Given the description of an element on the screen output the (x, y) to click on. 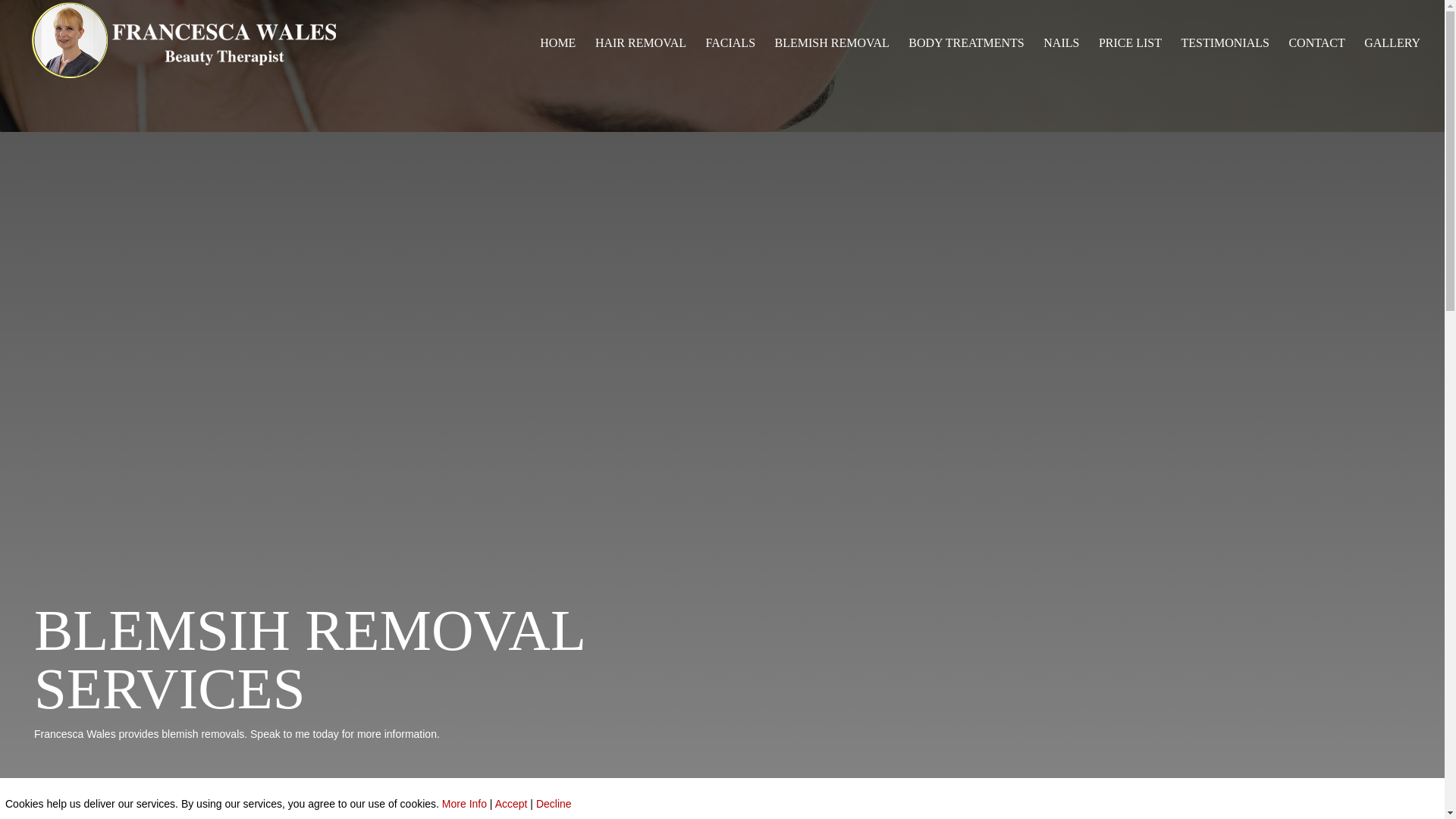
Decline (553, 803)
BODY TREATMENTS (965, 61)
More Info (464, 803)
TESTIMONIALS (1224, 61)
BLEMISH REMOVAL (831, 61)
GALLERY (1392, 61)
FACIALS (730, 61)
CONTACT (1315, 61)
Accept (511, 803)
PRICE LIST (1130, 61)
